Given the description of an element on the screen output the (x, y) to click on. 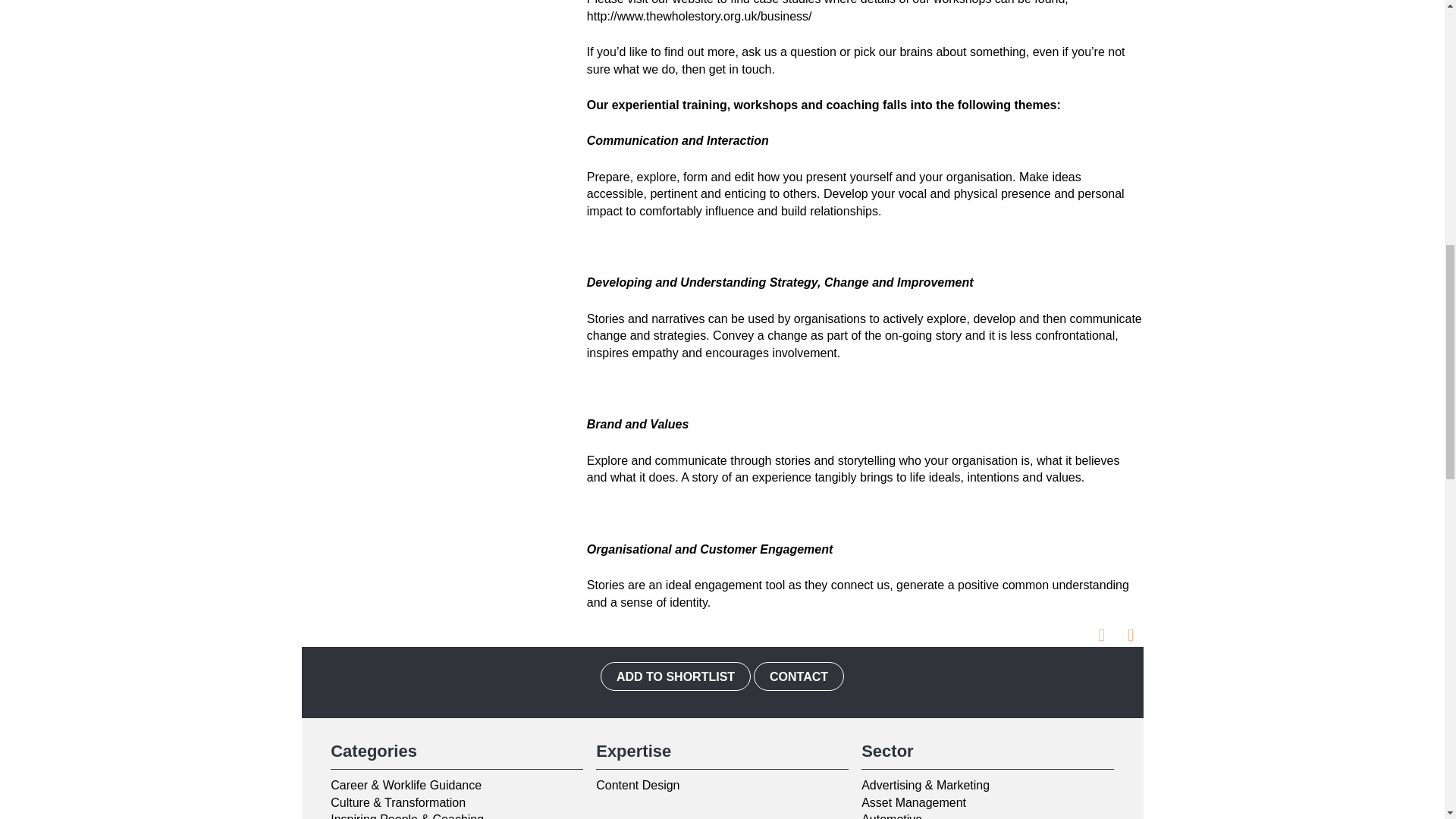
ADD TO SHORTLIST (675, 676)
CONTACT (799, 676)
